Given the description of an element on the screen output the (x, y) to click on. 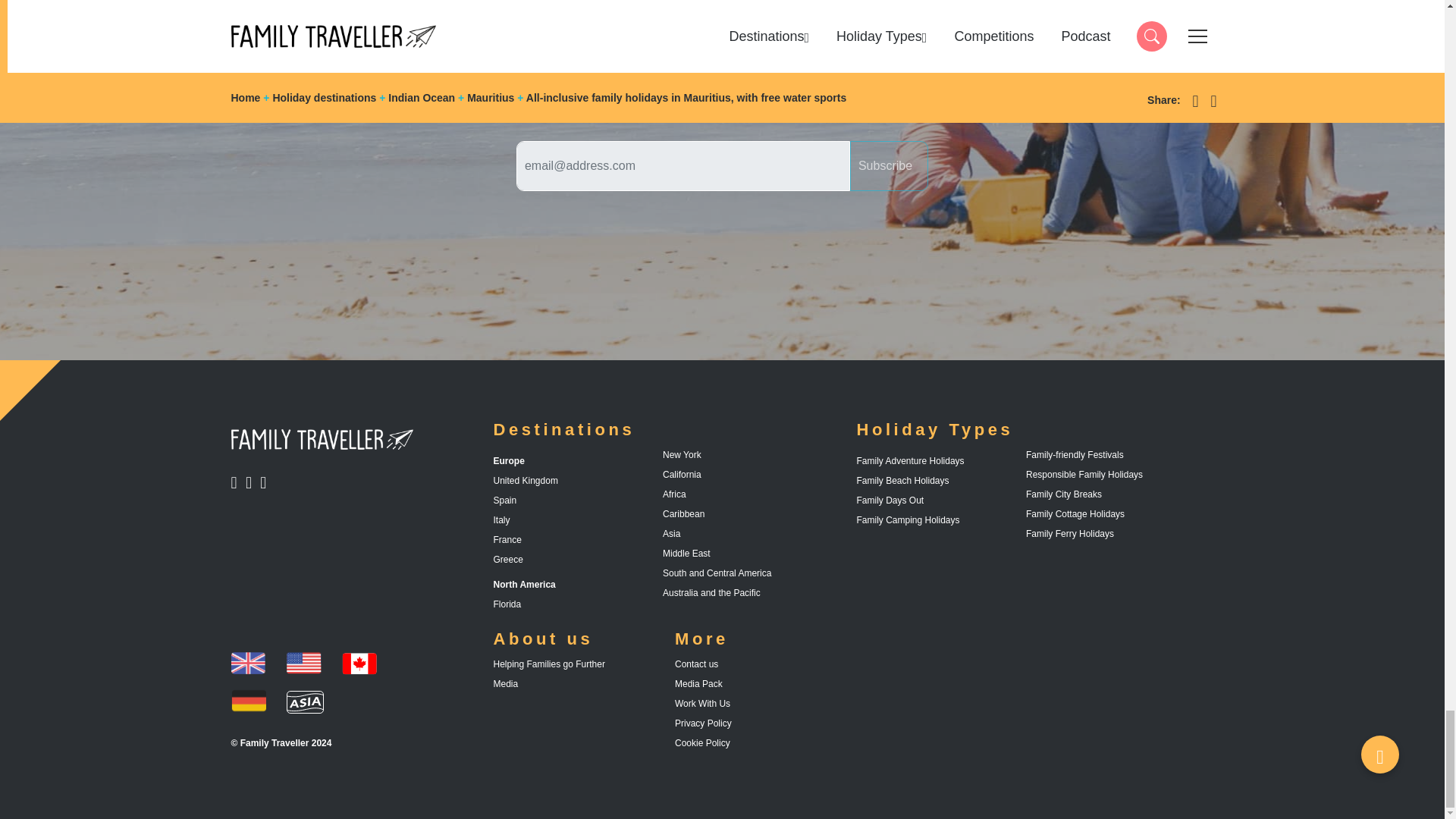
Visit Family Traveller UK (237, 482)
Visit Family Traveller DE (247, 663)
Visit Family Traveller USA (247, 701)
Subscribe (266, 482)
Visit Family Traveller Asia (303, 663)
Visit Family Traveller Canada (253, 482)
